Given the description of an element on the screen output the (x, y) to click on. 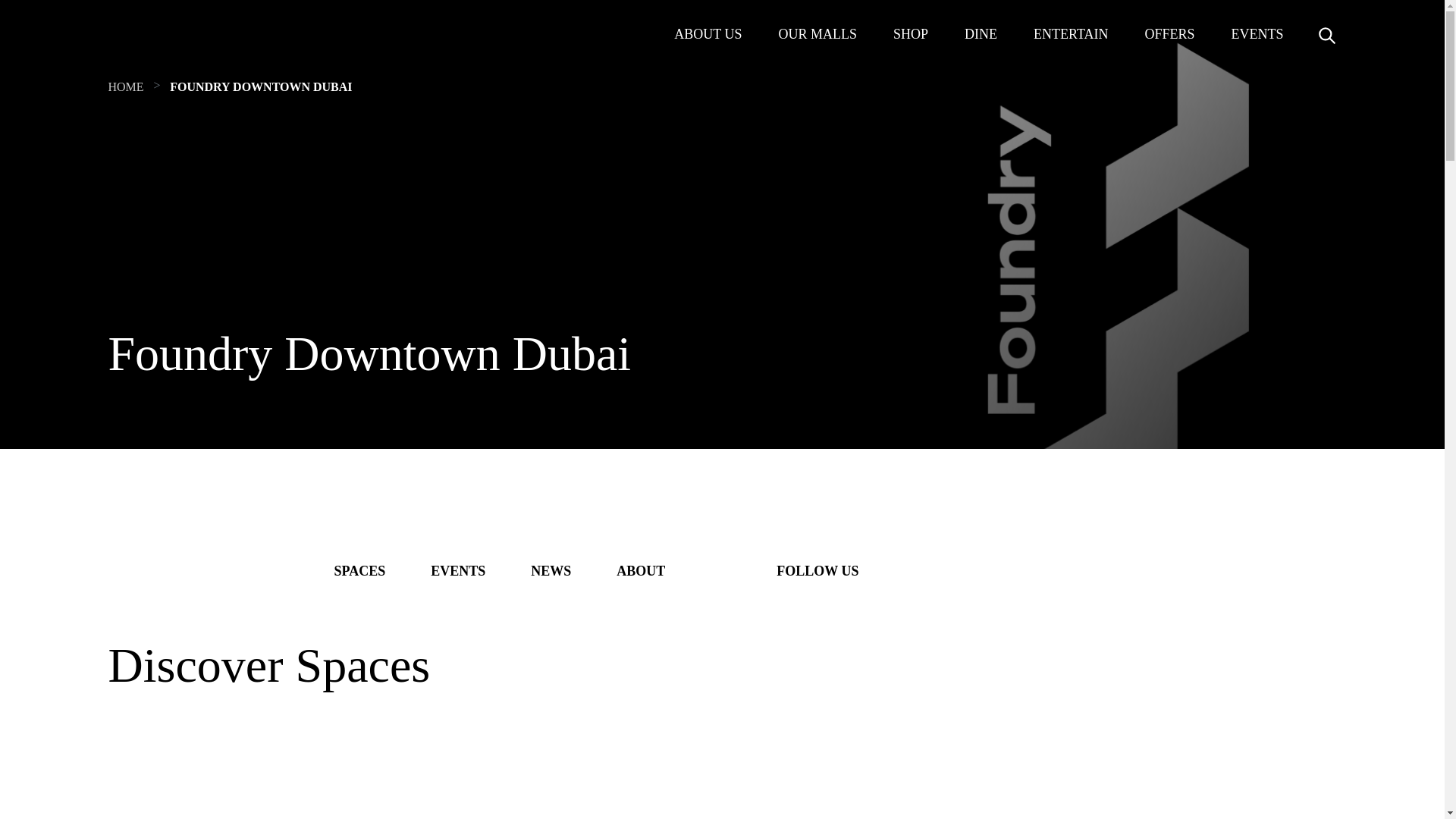
OUR MALLS (817, 33)
ABOUT (640, 570)
SPACES (359, 570)
ABOUT US (707, 33)
Entertain (1070, 33)
Offers (1168, 33)
ABOUT (640, 570)
About Us (707, 33)
HOME (124, 86)
EVENTS (457, 570)
